Given the description of an element on the screen output the (x, y) to click on. 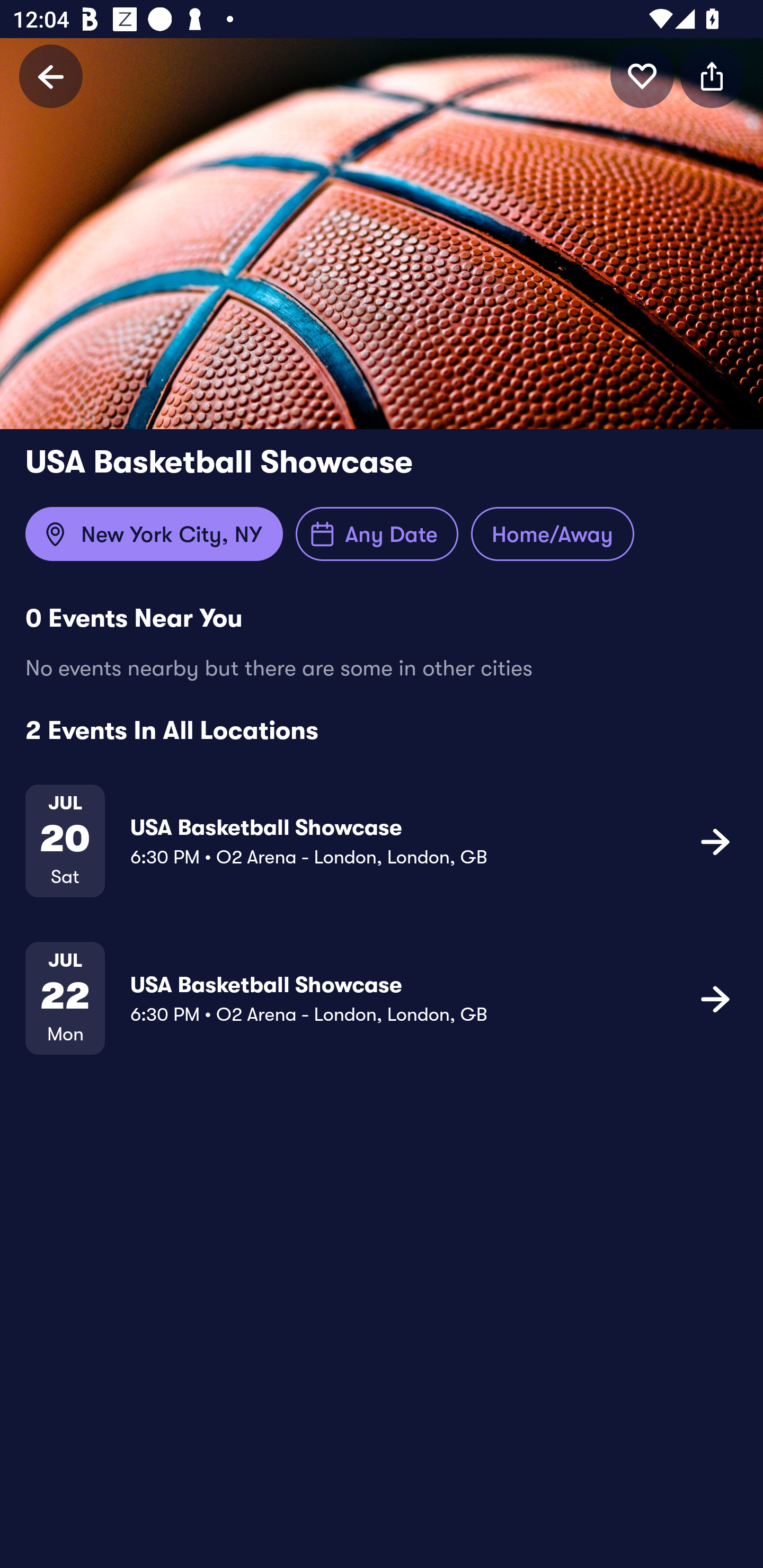
Back (50, 75)
icon button (641, 75)
icon button (711, 75)
New York City, NY (153, 533)
Any Date (377, 533)
Home/Away (552, 533)
icon button (714, 840)
icon button (714, 998)
